Given the description of an element on the screen output the (x, y) to click on. 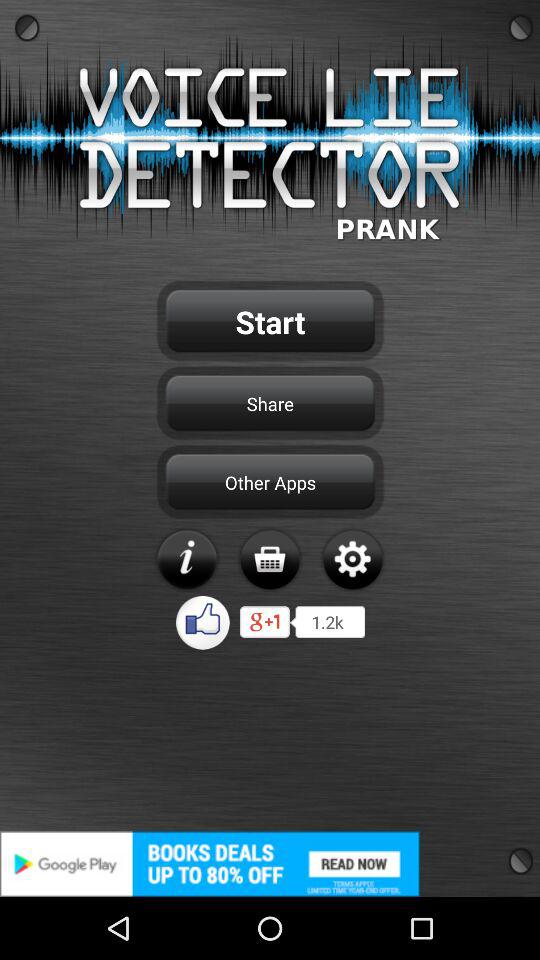
like button (203, 621)
